Given the description of an element on the screen output the (x, y) to click on. 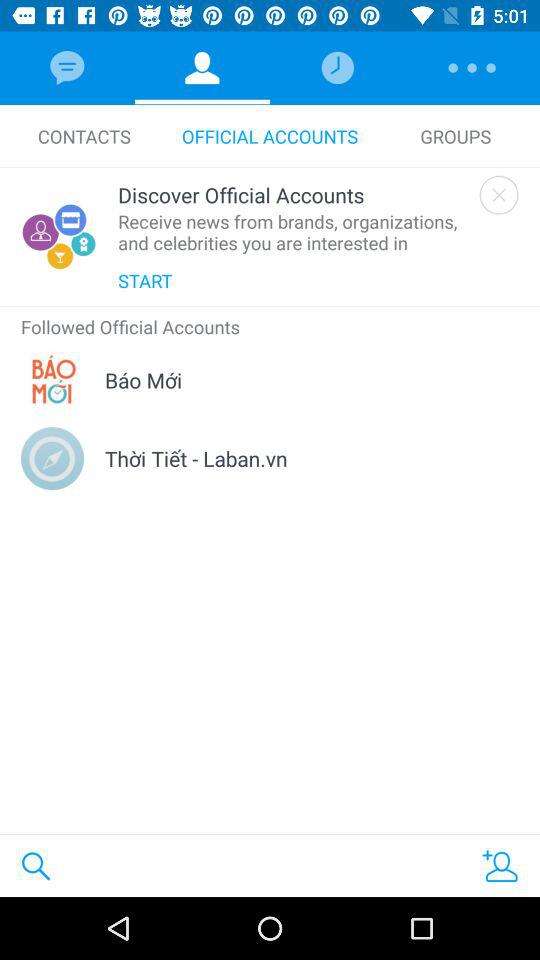
close tab (498, 194)
